Given the description of an element on the screen output the (x, y) to click on. 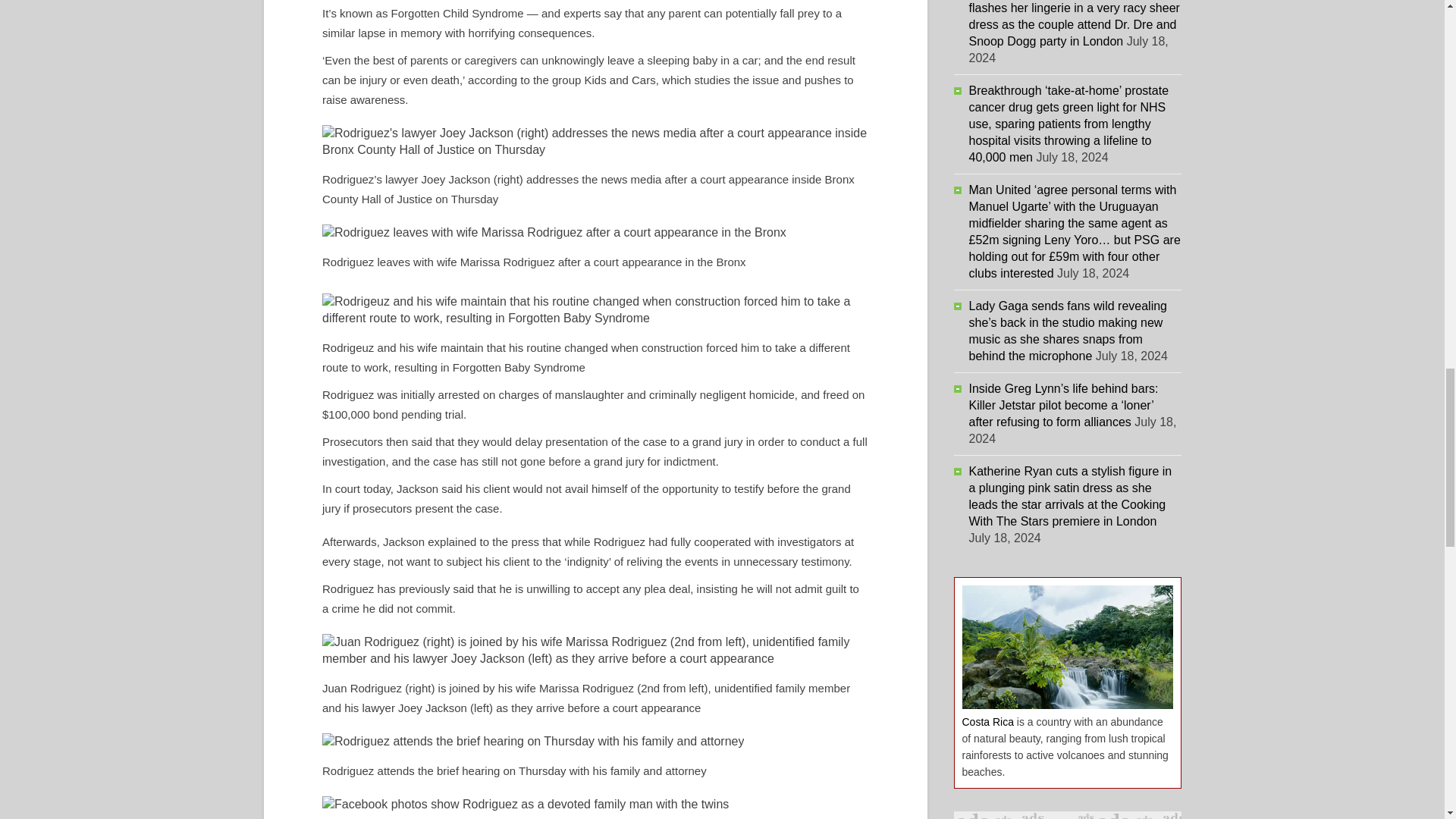
Costa Rica (986, 721)
